Given the description of an element on the screen output the (x, y) to click on. 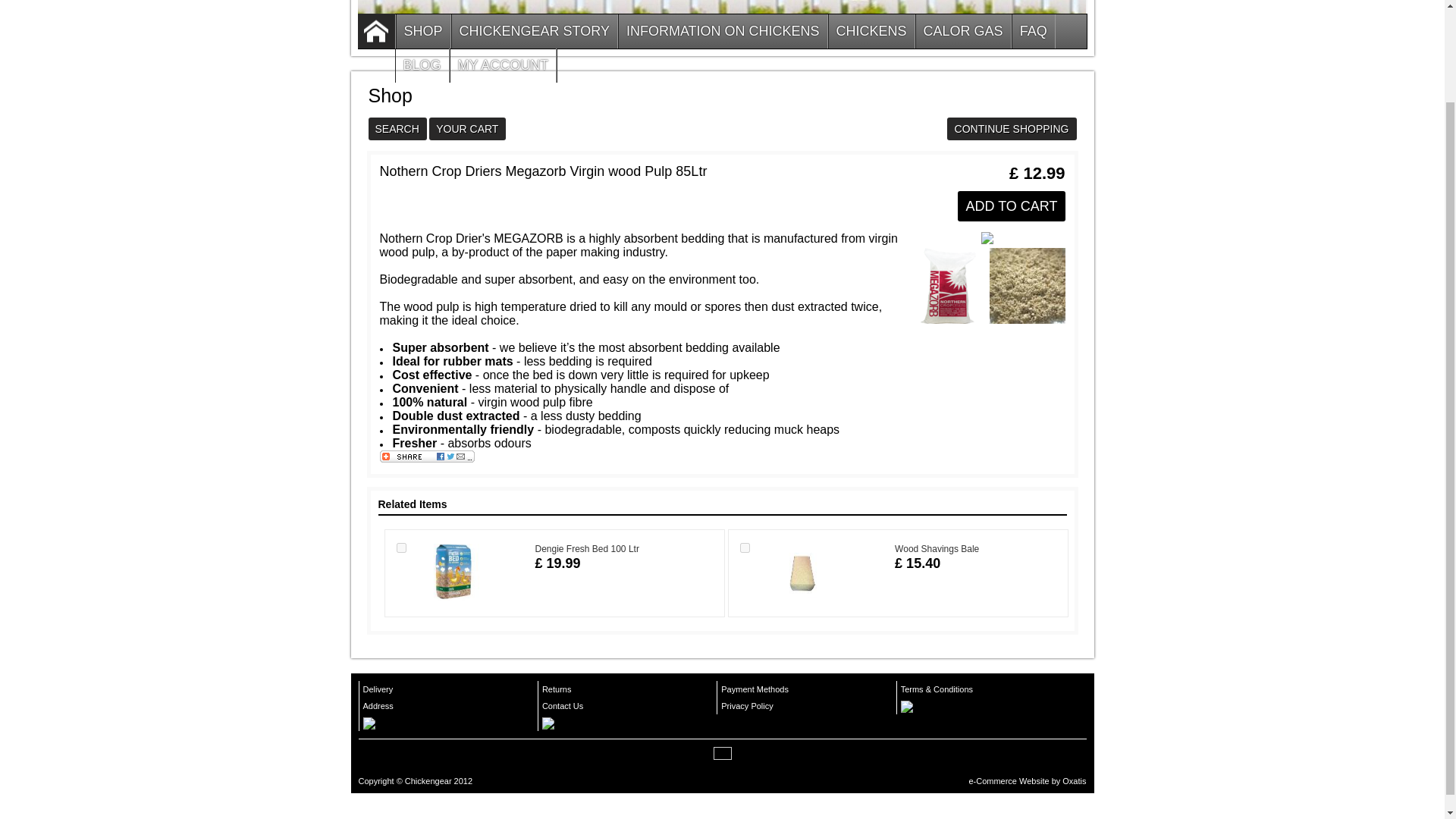
INFORMATION ON CHICKENS (722, 31)
SEARCH (397, 129)
Share (426, 459)
SHOP (422, 31)
CONTINUE SHOPPING (1012, 129)
ADD TO CART (1011, 207)
BLOG (422, 65)
FAQ (1032, 31)
YOUR CART (467, 129)
Wood Shavings Bale (936, 548)
